Given the description of an element on the screen output the (x, y) to click on. 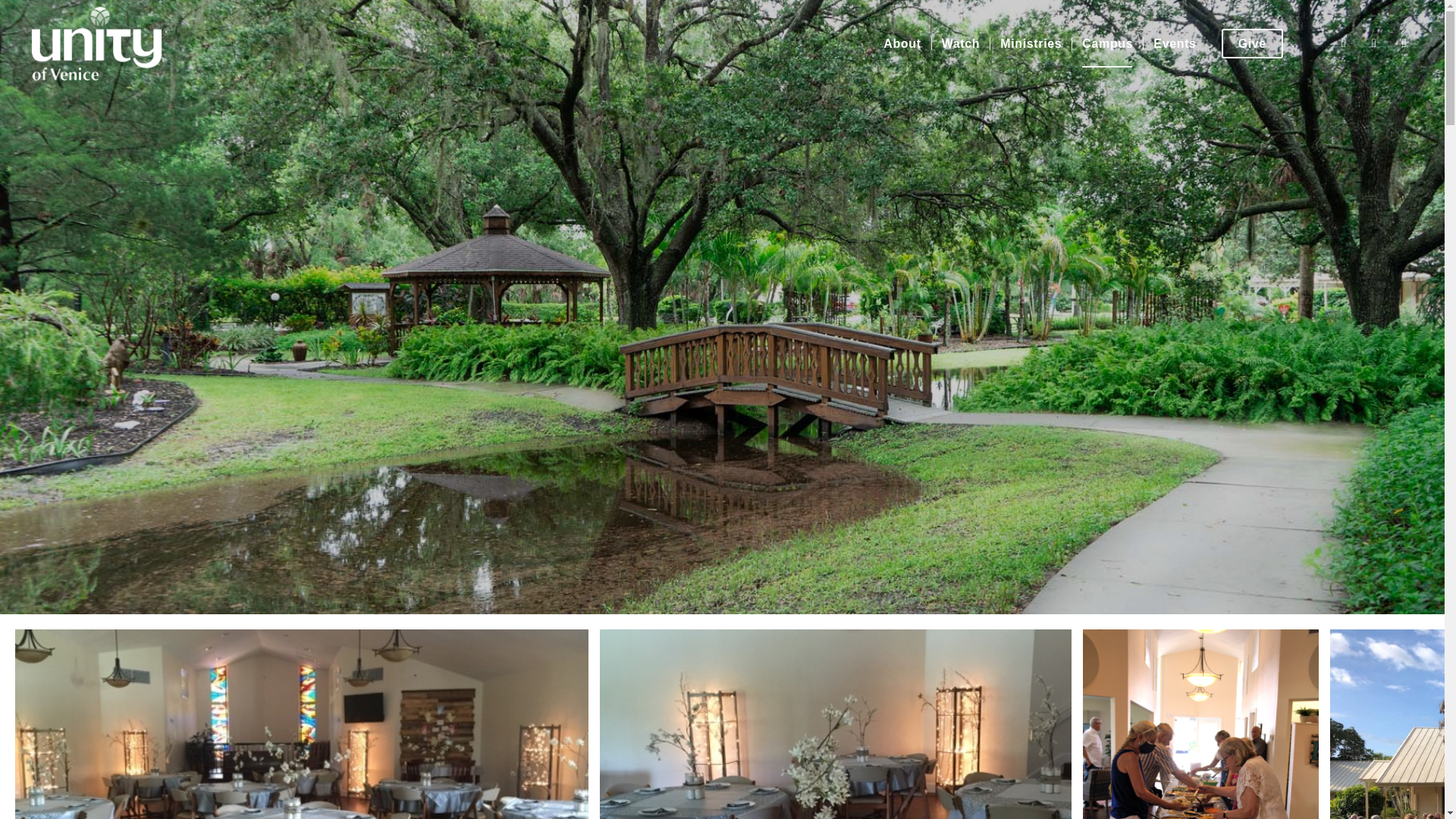
X (1374, 42)
Main Event (301, 724)
Youtube (1404, 42)
Grounds10 (1201, 724)
Unity of Venice Logo (99, 43)
Facebook (1343, 42)
Ministries (1030, 43)
Event1 (835, 724)
